Given the description of an element on the screen output the (x, y) to click on. 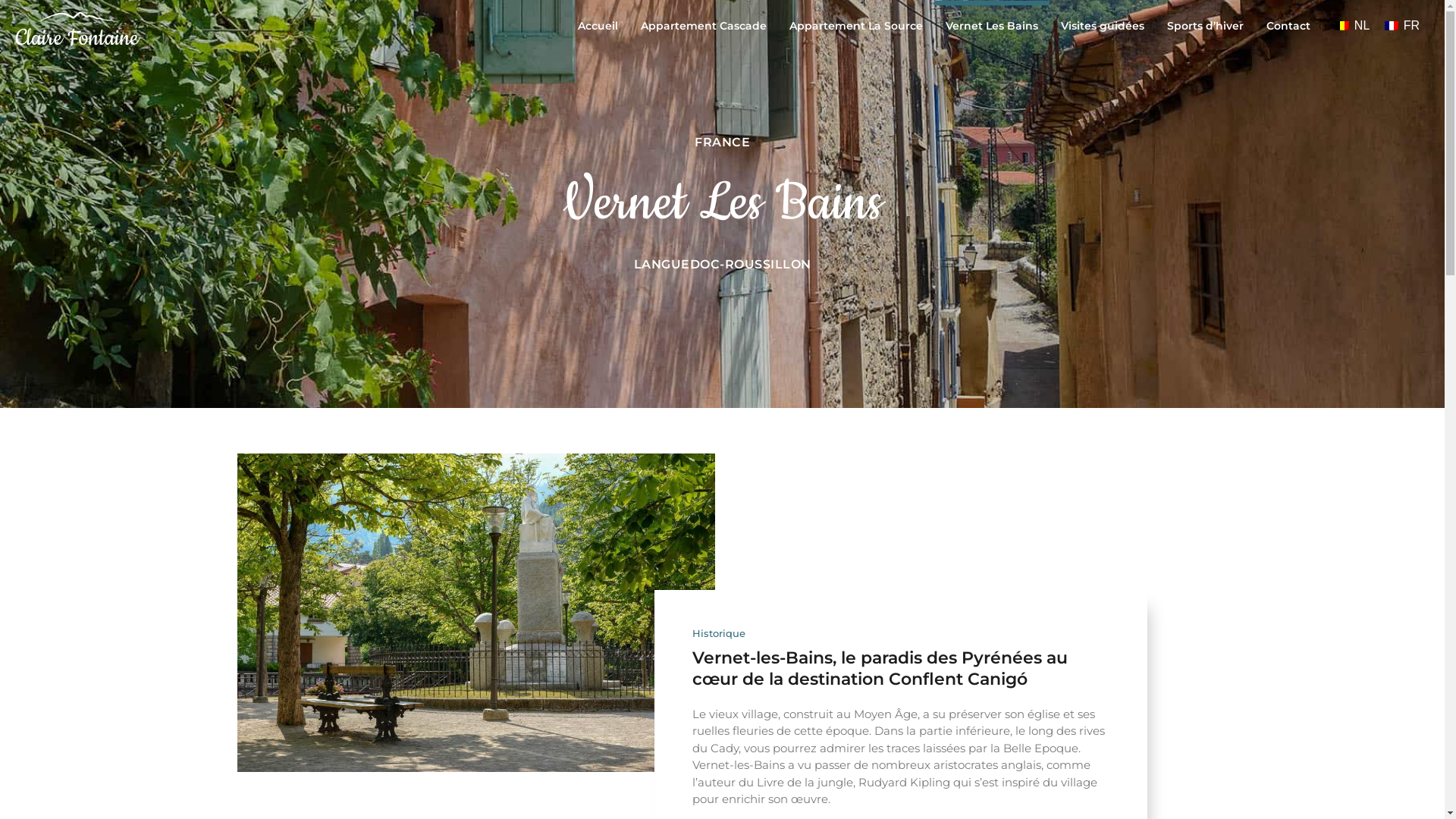
Accueil Element type: text (597, 25)
Contact Element type: text (1288, 25)
Appartement La Source Element type: text (856, 25)
Vernet Les Bains Element type: text (991, 25)
NL Element type: text (1352, 25)
Appartement Cascade Element type: text (703, 25)
FR Element type: text (1402, 25)
